Given the description of an element on the screen output the (x, y) to click on. 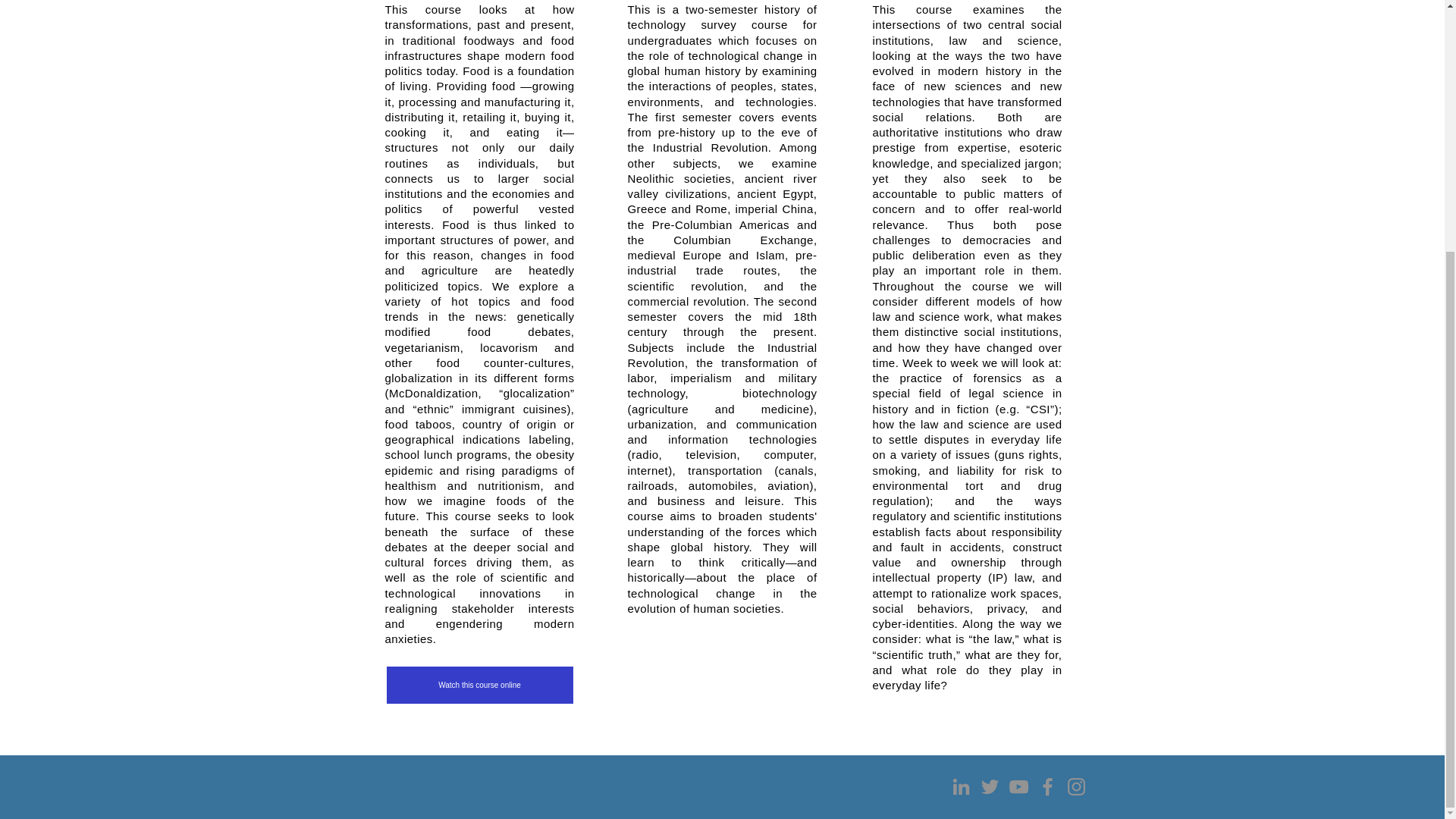
Watch this course online (480, 685)
